Given the description of an element on the screen output the (x, y) to click on. 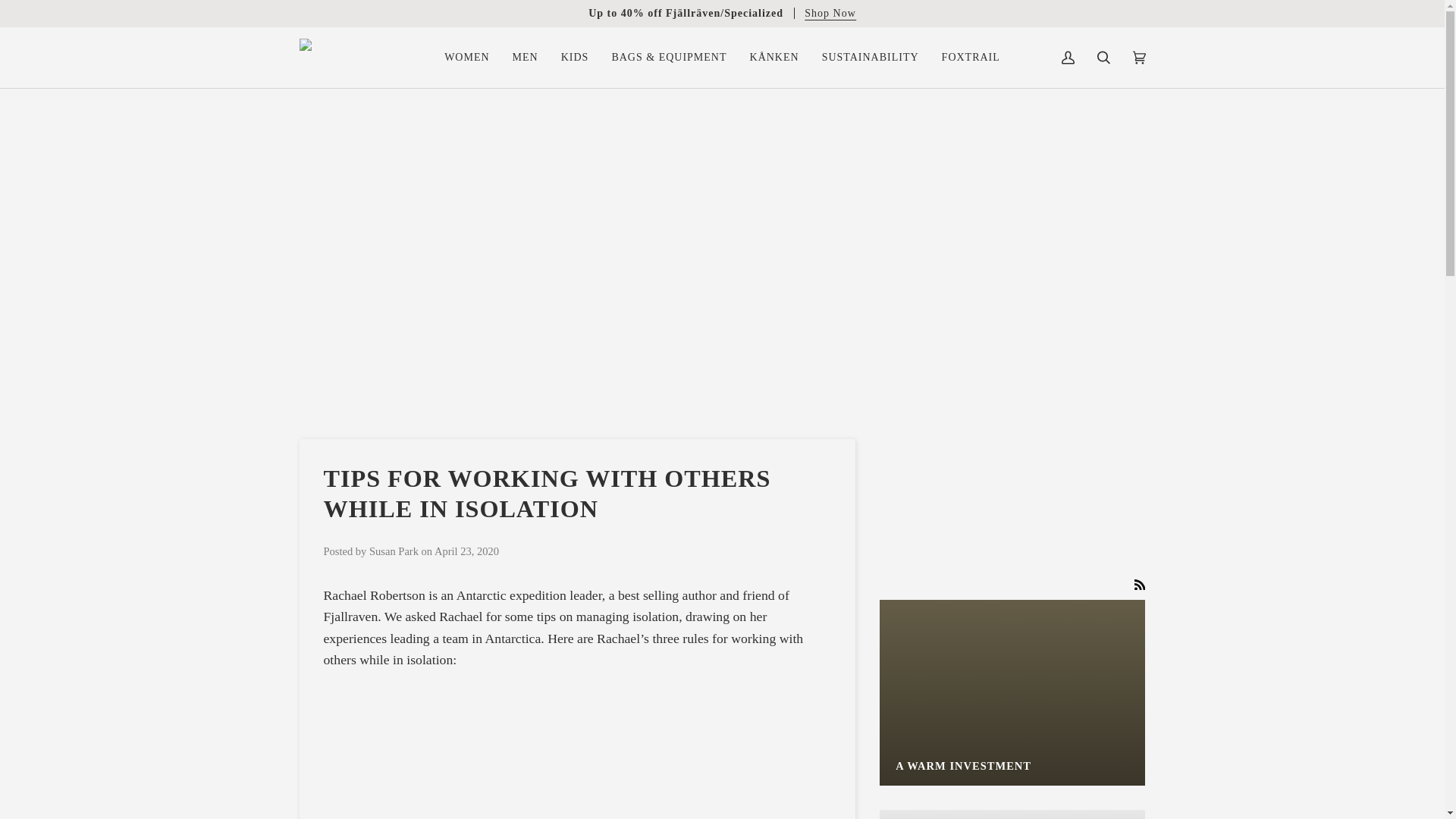
Shop Now (830, 12)
WOMEN (466, 57)
Last Chance (830, 12)
